Given the description of an element on the screen output the (x, y) to click on. 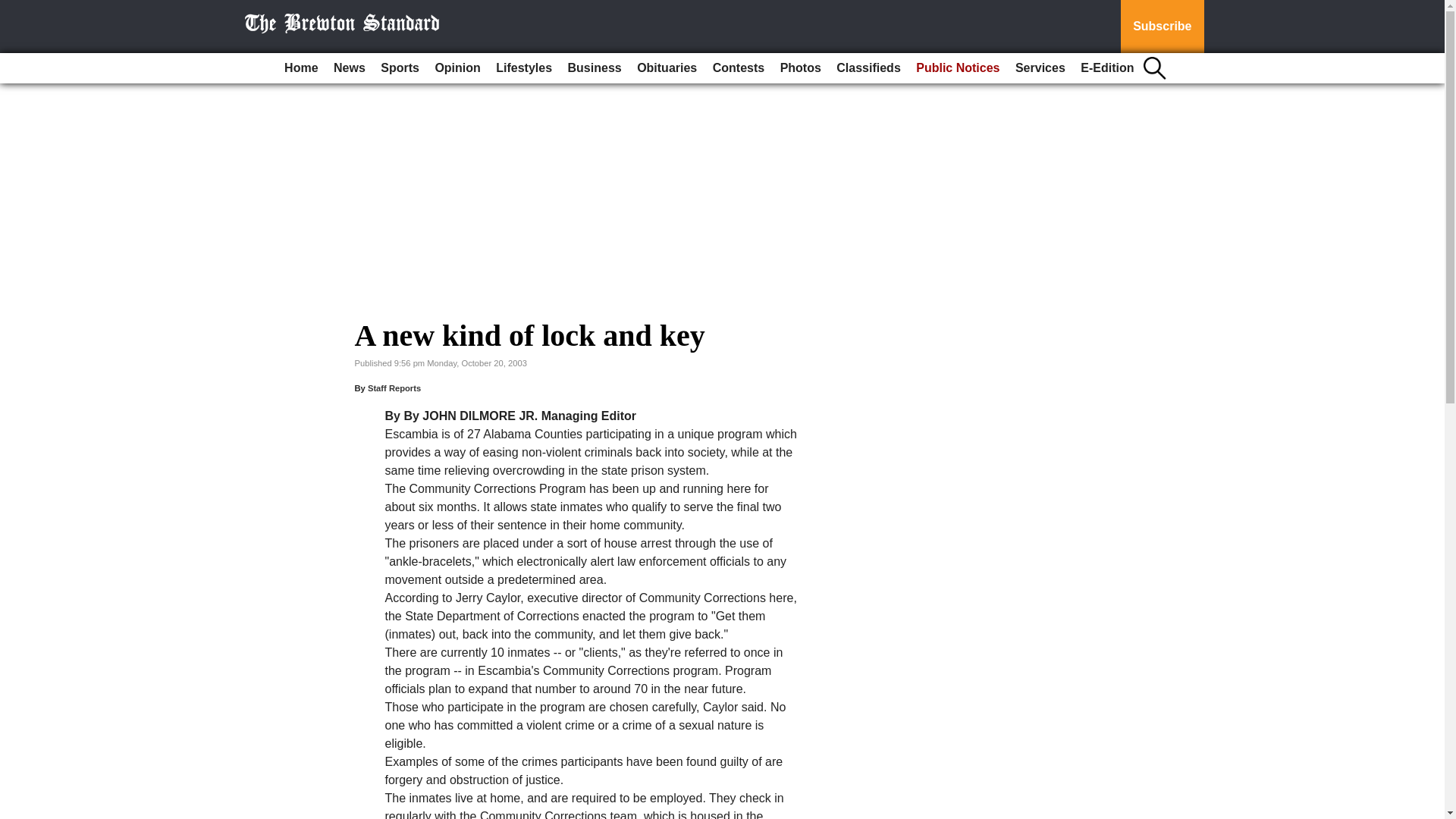
Business (594, 68)
Go (13, 9)
Home (300, 68)
Services (1040, 68)
Public Notices (958, 68)
Staff Reports (394, 388)
Contests (738, 68)
Opinion (457, 68)
News (349, 68)
Sports (399, 68)
